Given the description of an element on the screen output the (x, y) to click on. 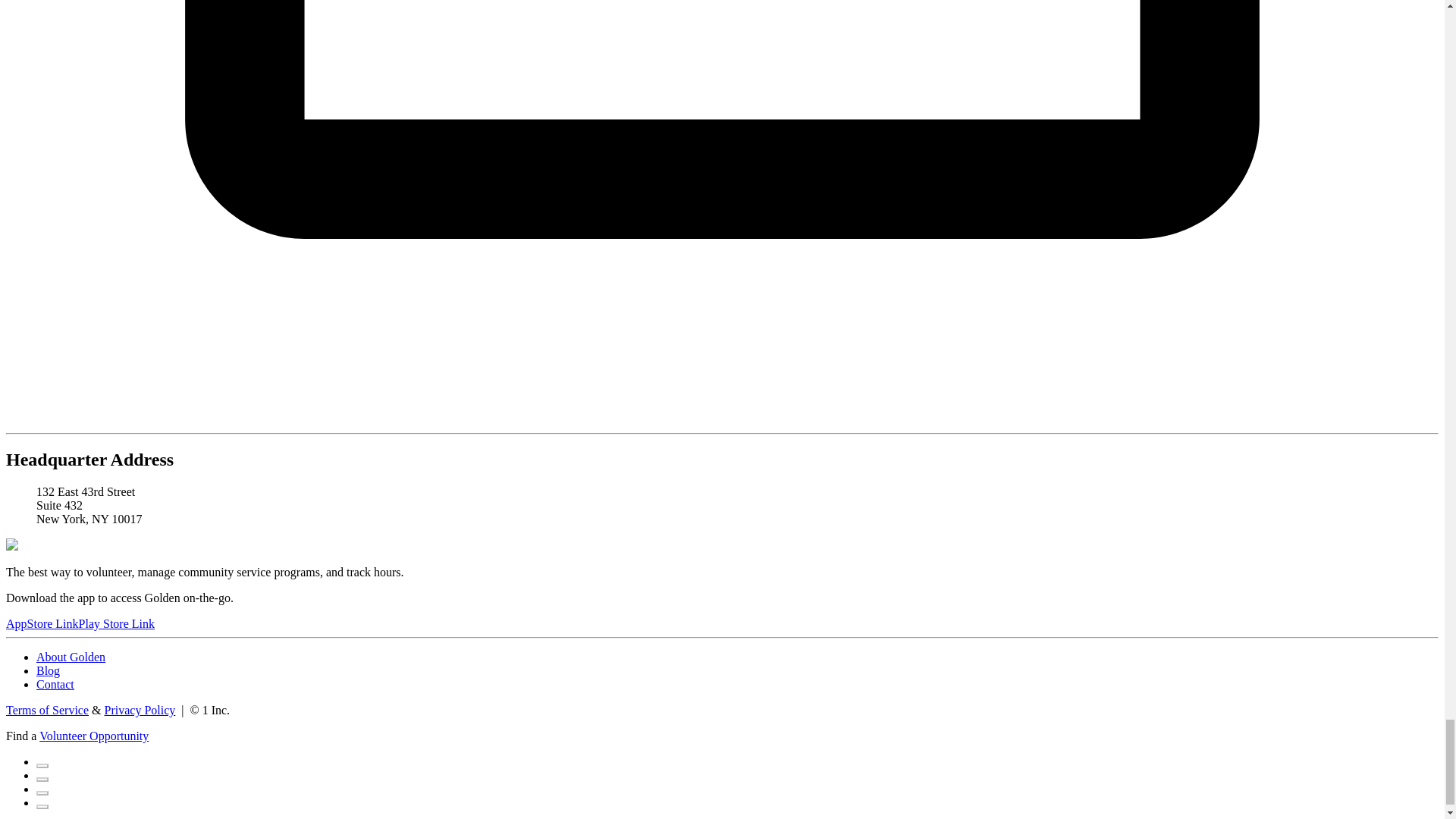
Volunteer Opportunity (93, 735)
Volunteer Opportunity (93, 735)
Visit Us On YouTube (42, 802)
Visit Us On Instagram (42, 788)
Terms of Service (46, 709)
About Golden (70, 656)
AppStore Link (41, 623)
Blog (47, 670)
Visit Us On Twitter (42, 775)
Contact (55, 684)
Visit Us On Facebook (42, 761)
Contact (55, 684)
Blog (47, 670)
Play Store Link (116, 623)
Privacy Policy (140, 709)
